Given the description of an element on the screen output the (x, y) to click on. 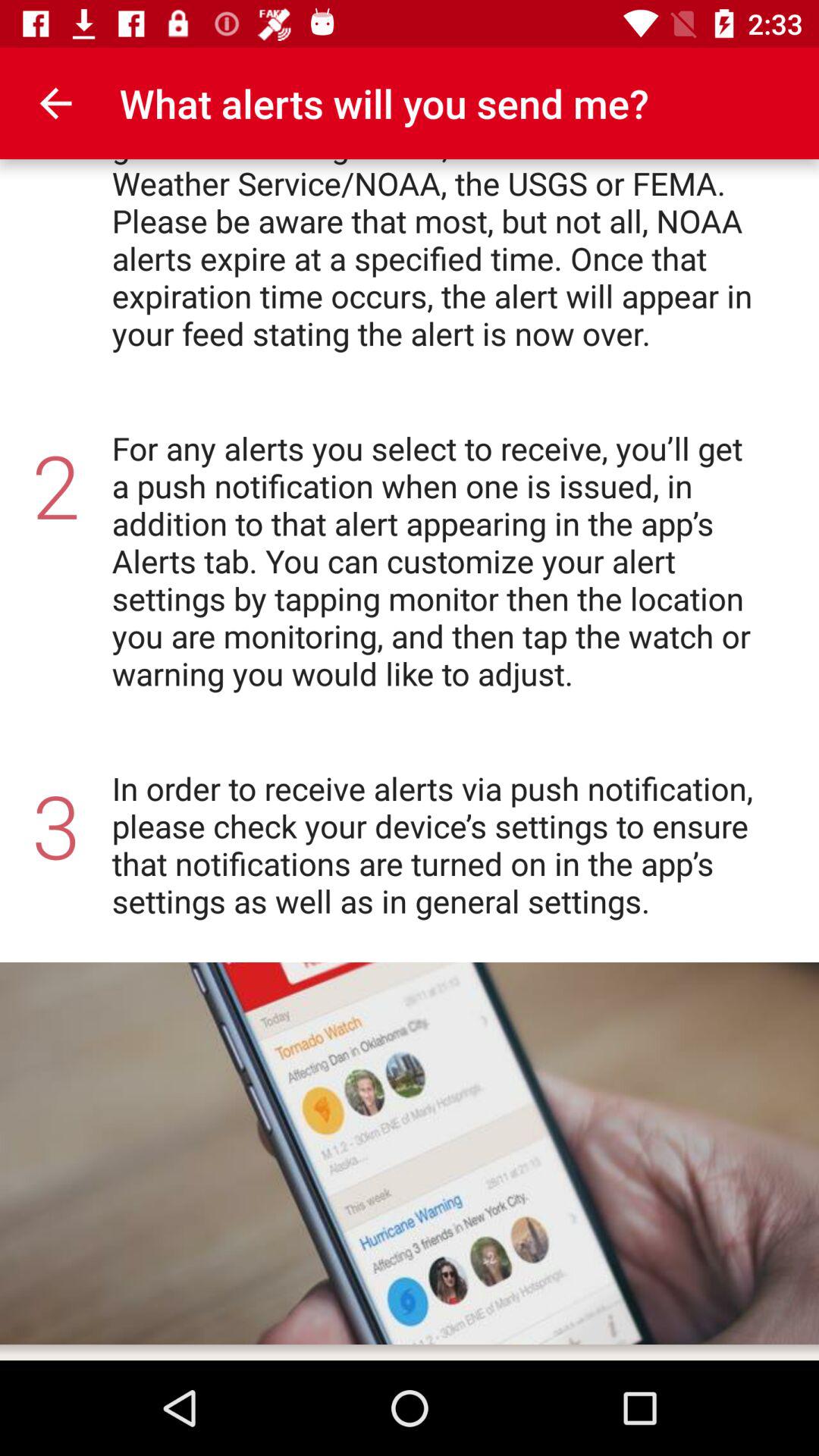
turn off item to the left of the for each location icon (55, 103)
